Given the description of an element on the screen output the (x, y) to click on. 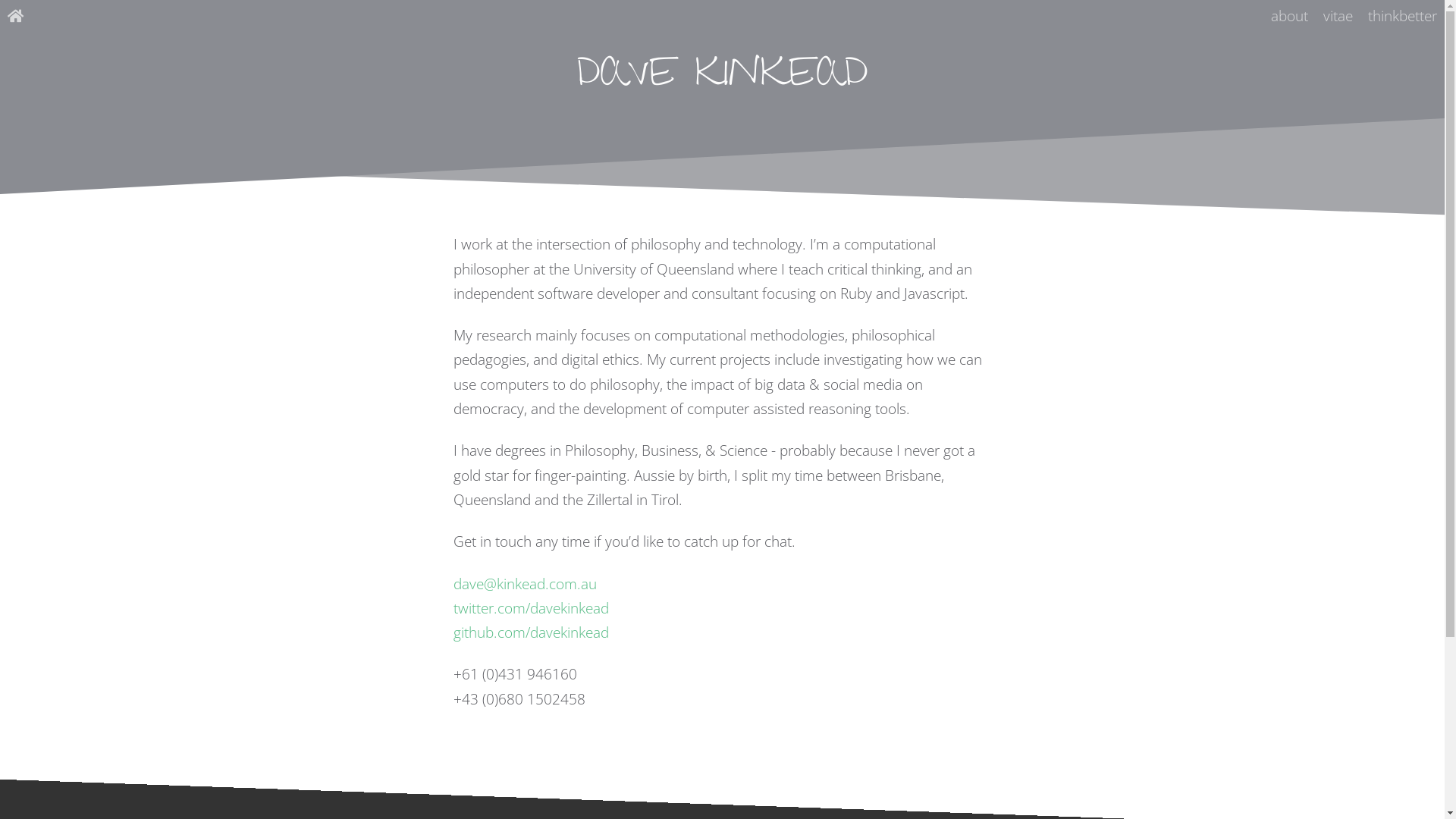
Dave Kinkead Element type: hover (15, 15)
github.com/davekinkead Element type: text (530, 632)
dave@kinkead.com.au Element type: text (524, 583)
twitter.com/davekinkead Element type: text (530, 608)
vitae Element type: text (1337, 15)
about Element type: text (1289, 15)
thinkbetter Element type: text (1402, 15)
